Given the description of an element on the screen output the (x, y) to click on. 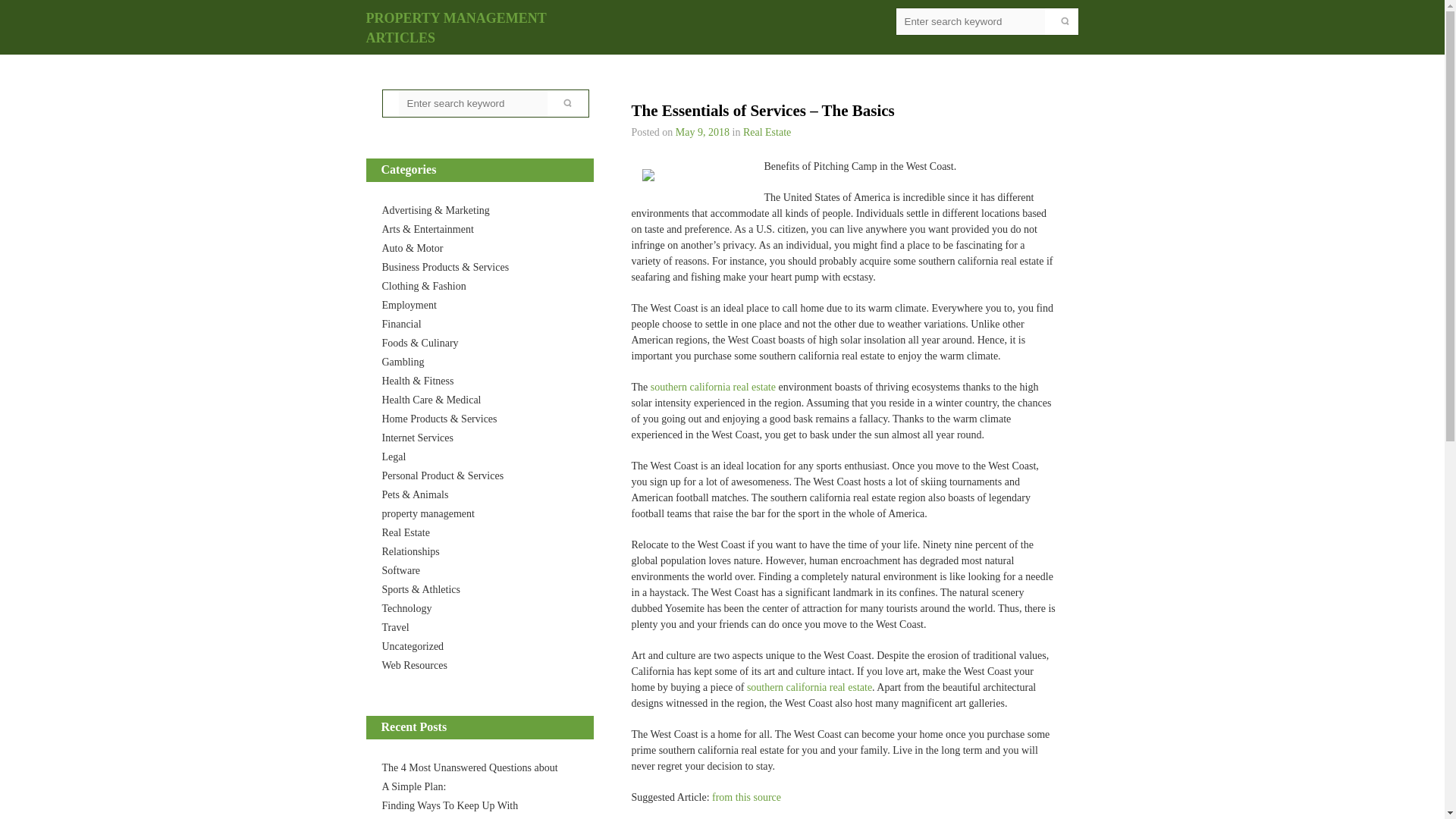
Software (400, 570)
Web Resources (413, 665)
Uncategorized (412, 645)
Real Estate (405, 532)
Technology (406, 608)
Property Management Articles (455, 27)
Internet Services (416, 437)
Gambling (403, 361)
Financial (401, 324)
property management (427, 513)
